Given the description of an element on the screen output the (x, y) to click on. 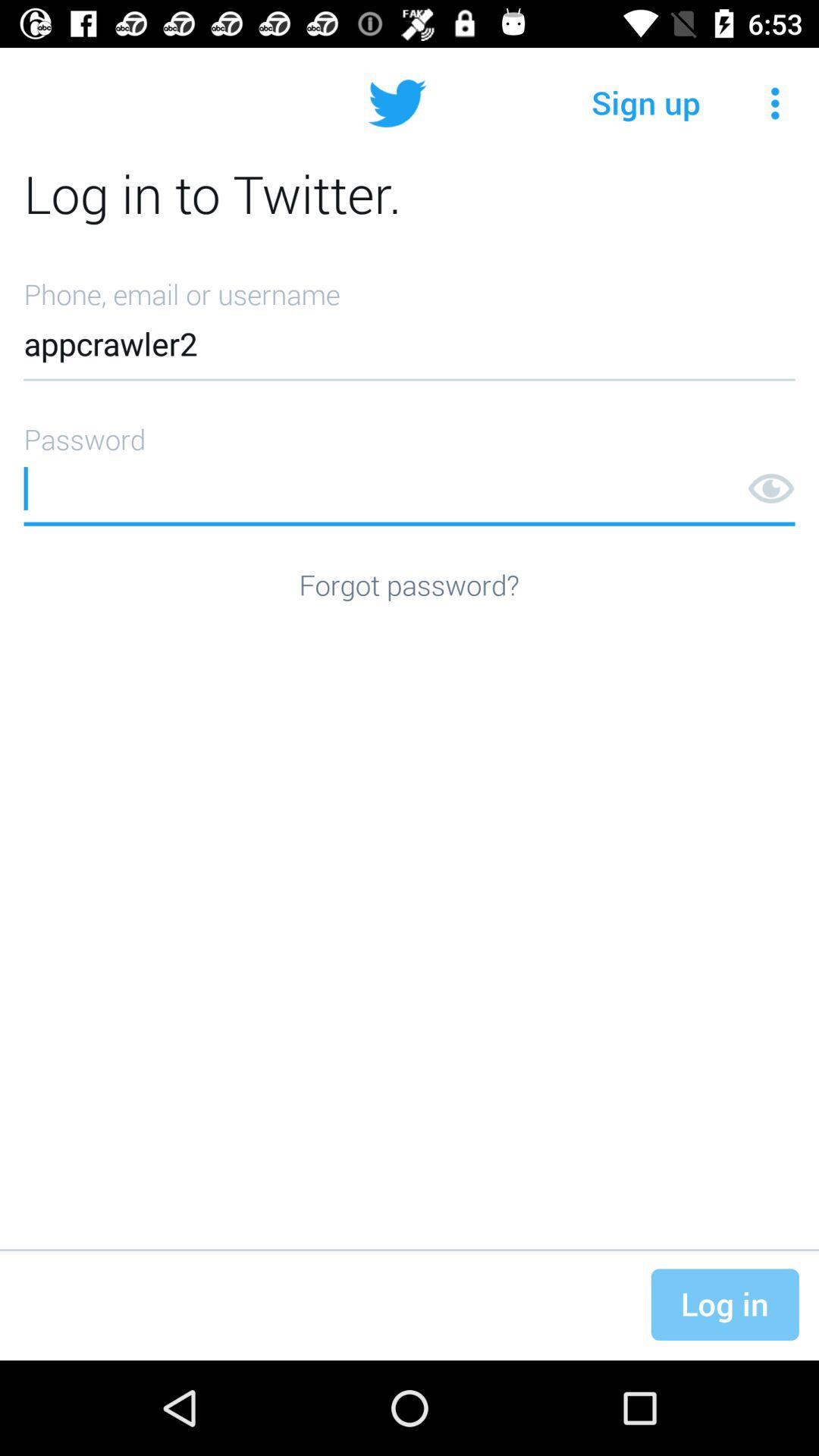
jump to the appcrawler2 item (409, 323)
